Given the description of an element on the screen output the (x, y) to click on. 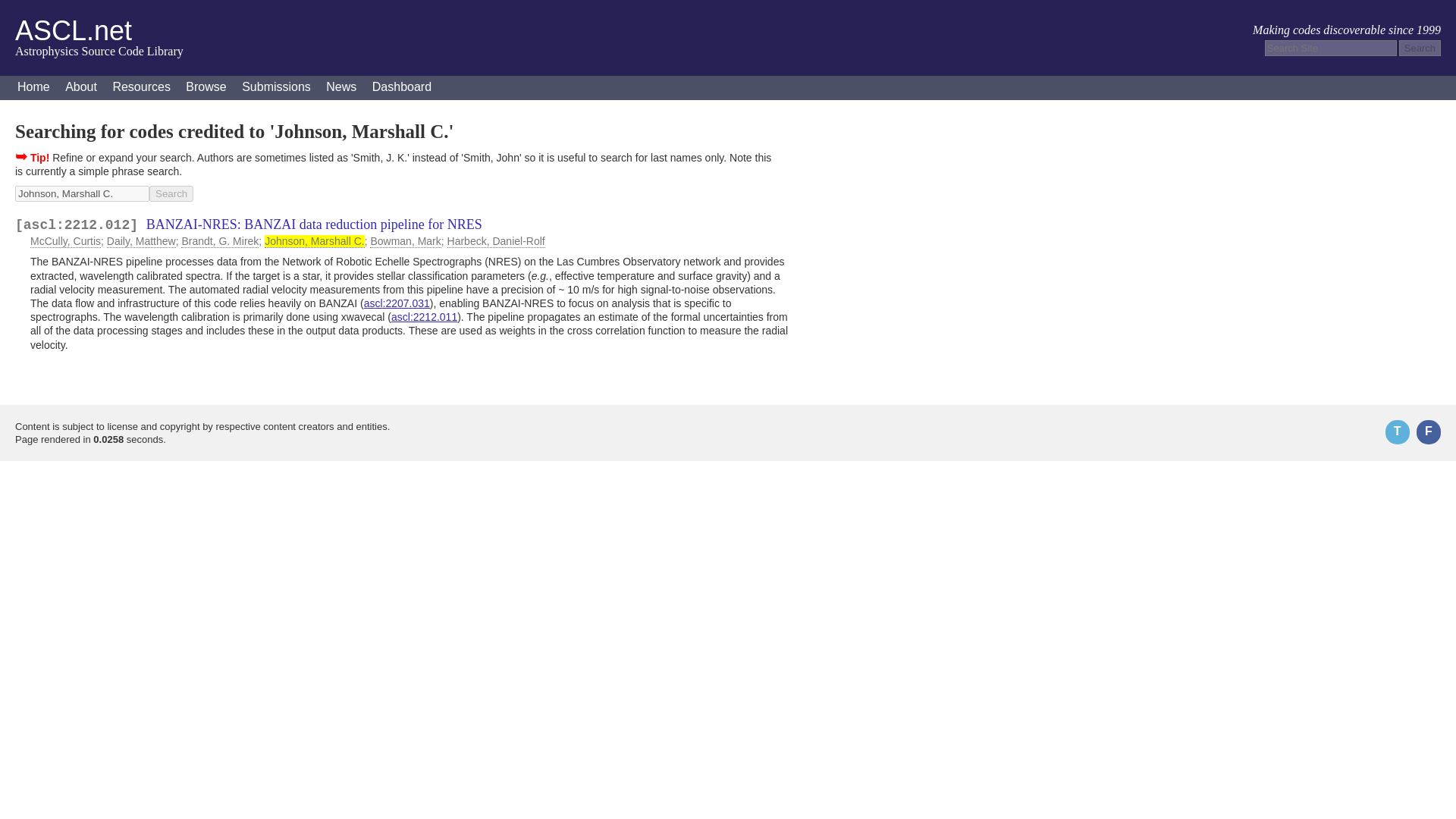
Search (171, 193)
Daily, Matthew (141, 241)
Resources (141, 87)
Search (171, 193)
Bowman, Mark (405, 241)
Search (1420, 48)
Harbeck, Daniel-Rolf (495, 241)
ascl:2207.031 (396, 303)
T (1397, 432)
Browse (205, 87)
BANZAI-NRES: BANZAI data reduction pipeline for NRES (314, 224)
Home (33, 87)
Follow ASCL on Twitter (1397, 432)
McCully, Curtis (65, 241)
About (81, 87)
